Given the description of an element on the screen output the (x, y) to click on. 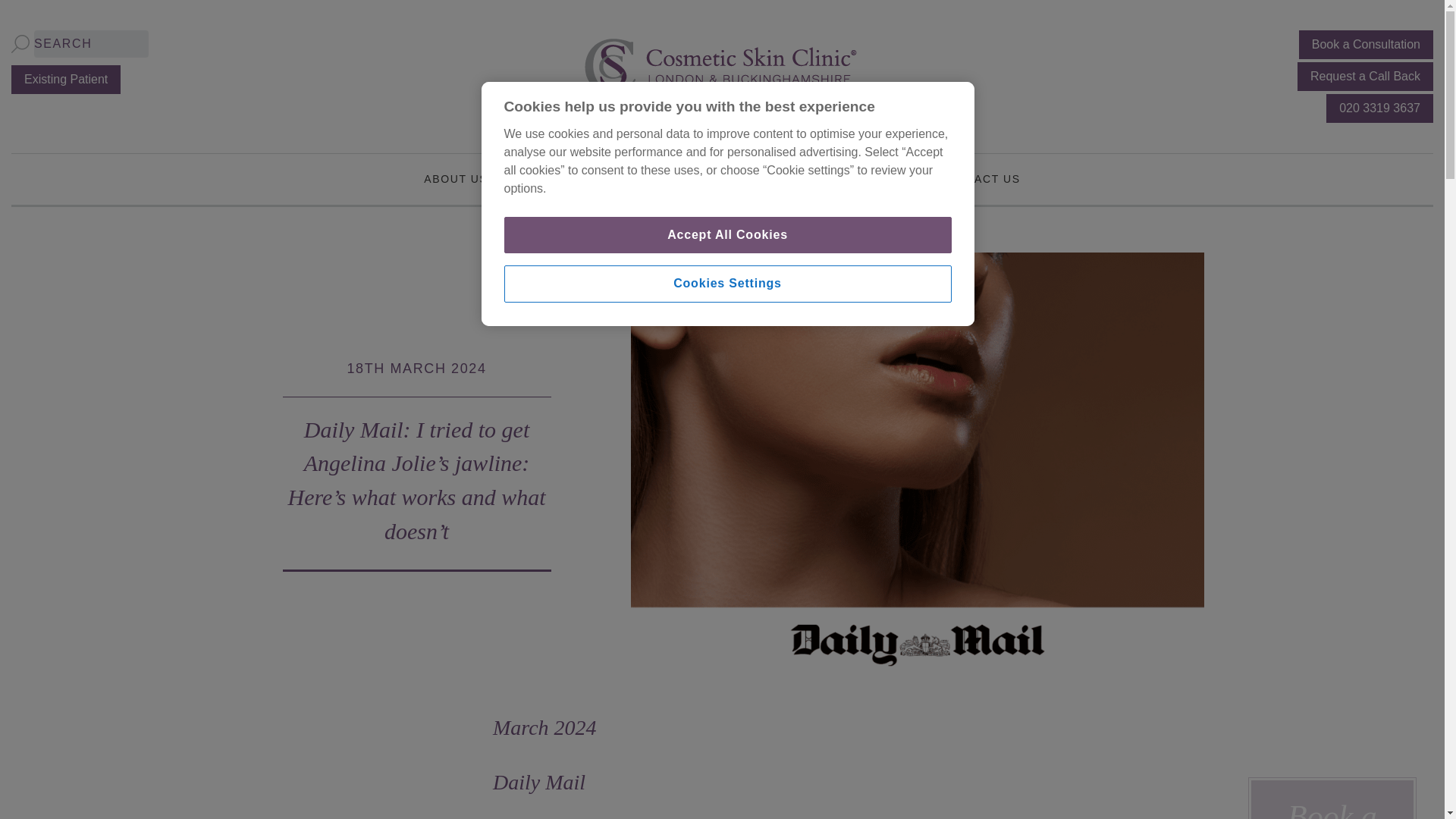
Book a Consultation (1365, 44)
Request a Call Back (1364, 76)
About Us (455, 179)
YOUR JOURNEY (790, 179)
ABOUT US (455, 179)
CONDITIONS (670, 179)
The Cosmetic Skin Clinic (722, 66)
Treatments (559, 179)
Blog (890, 179)
Contact (980, 179)
